Given the description of an element on the screen output the (x, y) to click on. 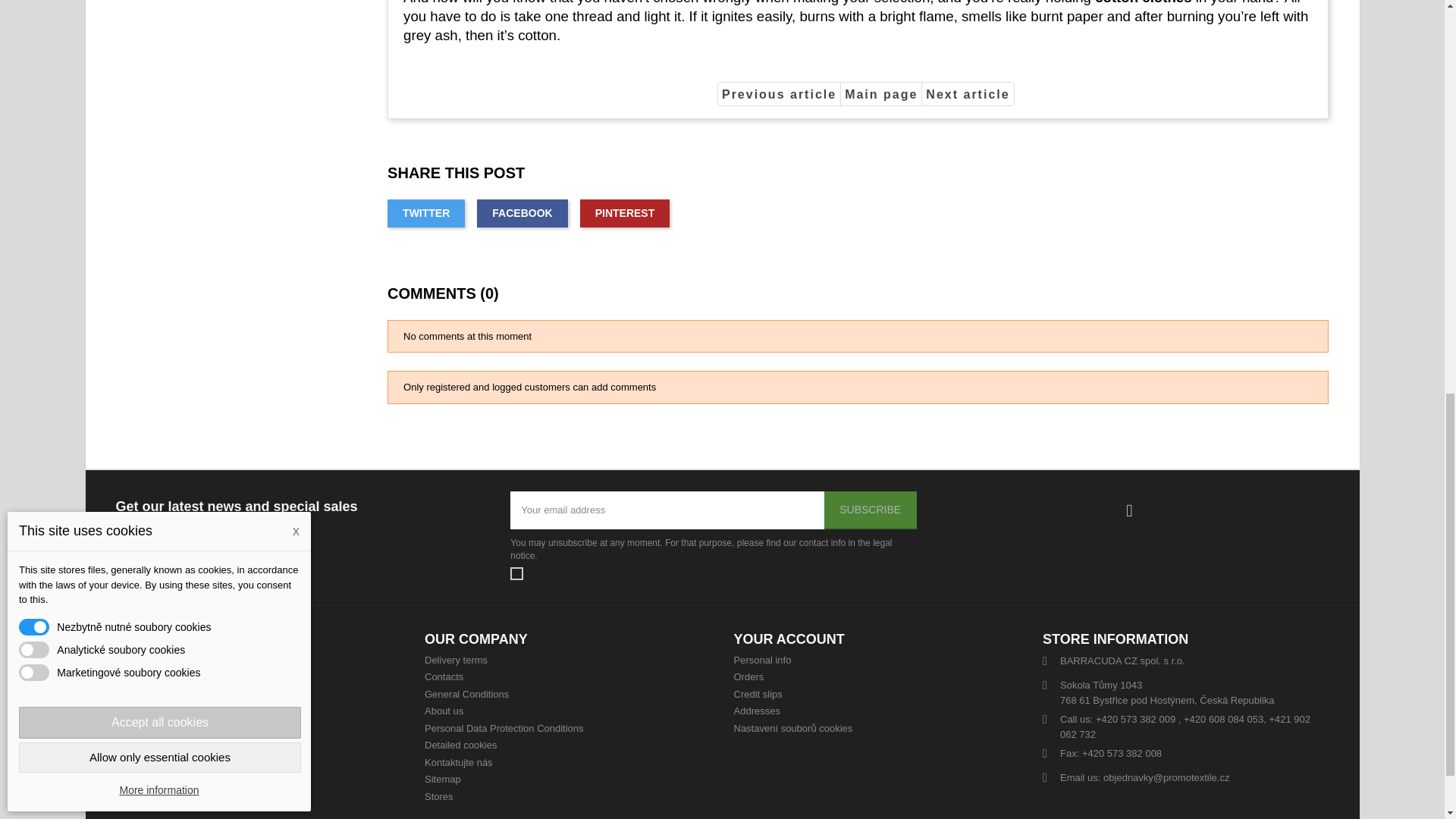
about us (444, 710)
Our special products (127, 676)
PINTEREST (624, 213)
Previous article (779, 93)
Contacts (444, 676)
Subscribe (870, 510)
Credit slips (758, 694)
FACEBOOK (522, 213)
Personal info (762, 659)
General Conditions (466, 694)
